Given the description of an element on the screen output the (x, y) to click on. 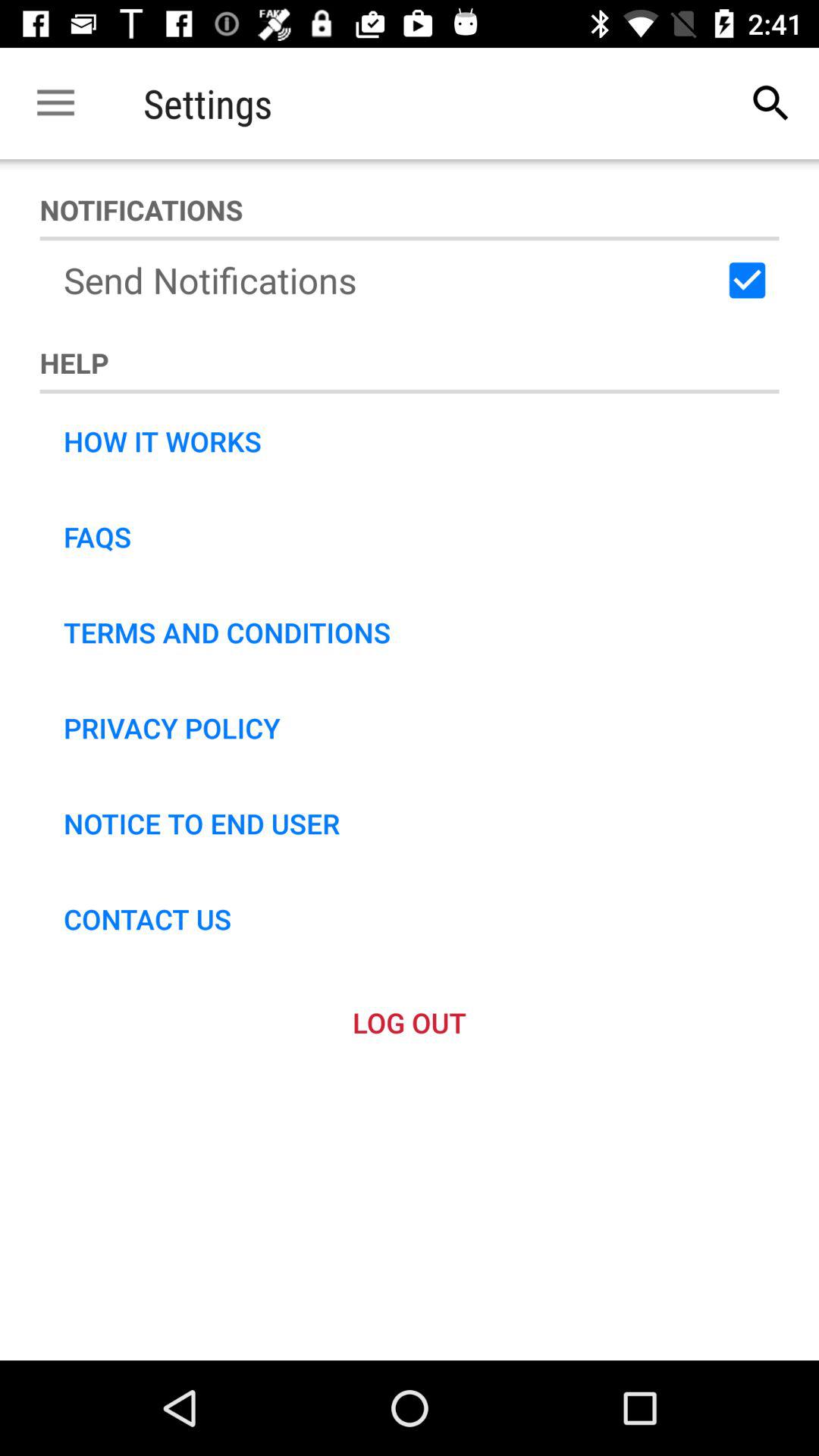
swipe until notice to end icon (201, 823)
